Given the description of an element on the screen output the (x, y) to click on. 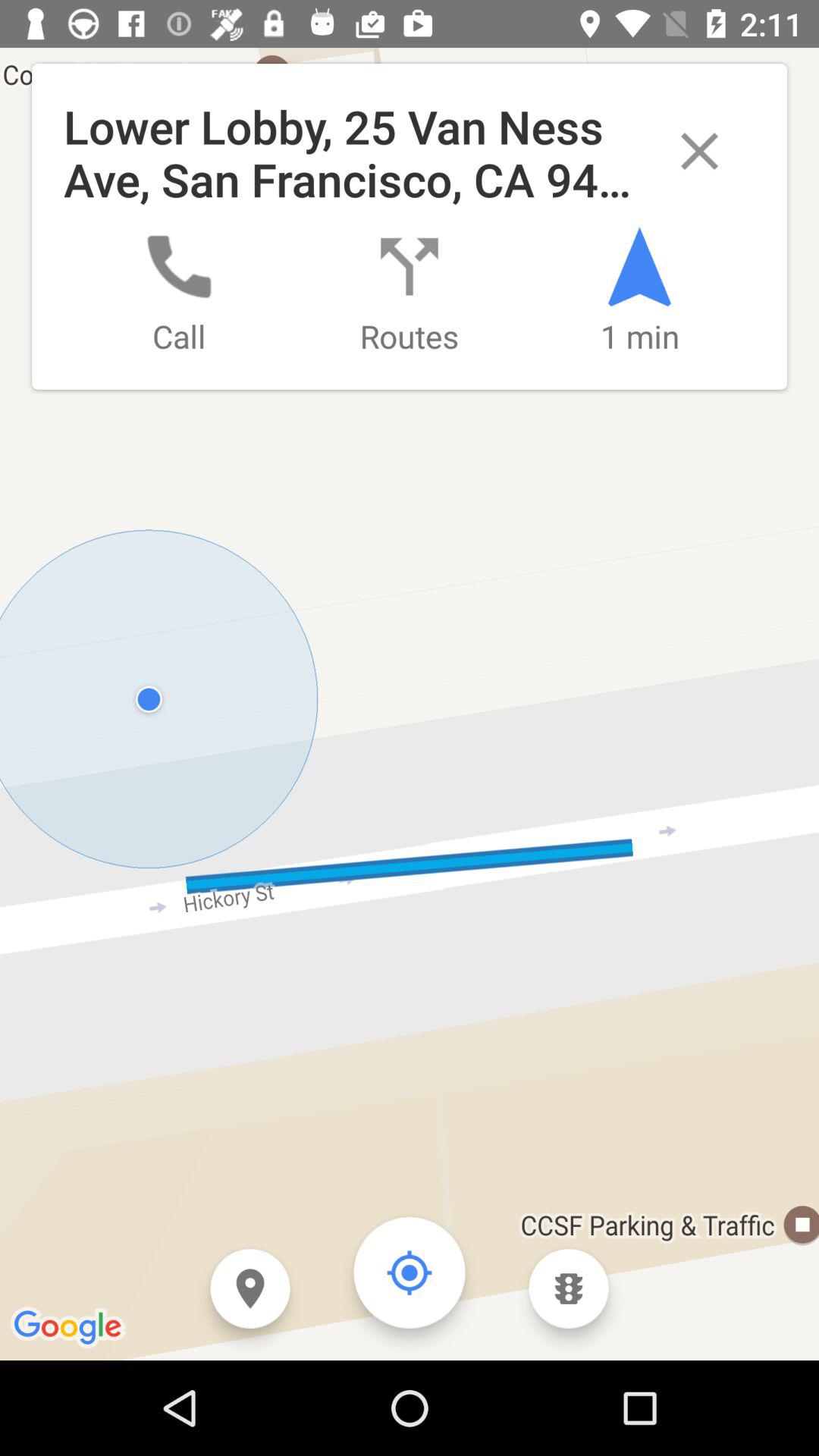
view traffic conditions (568, 1288)
